Given the description of an element on the screen output the (x, y) to click on. 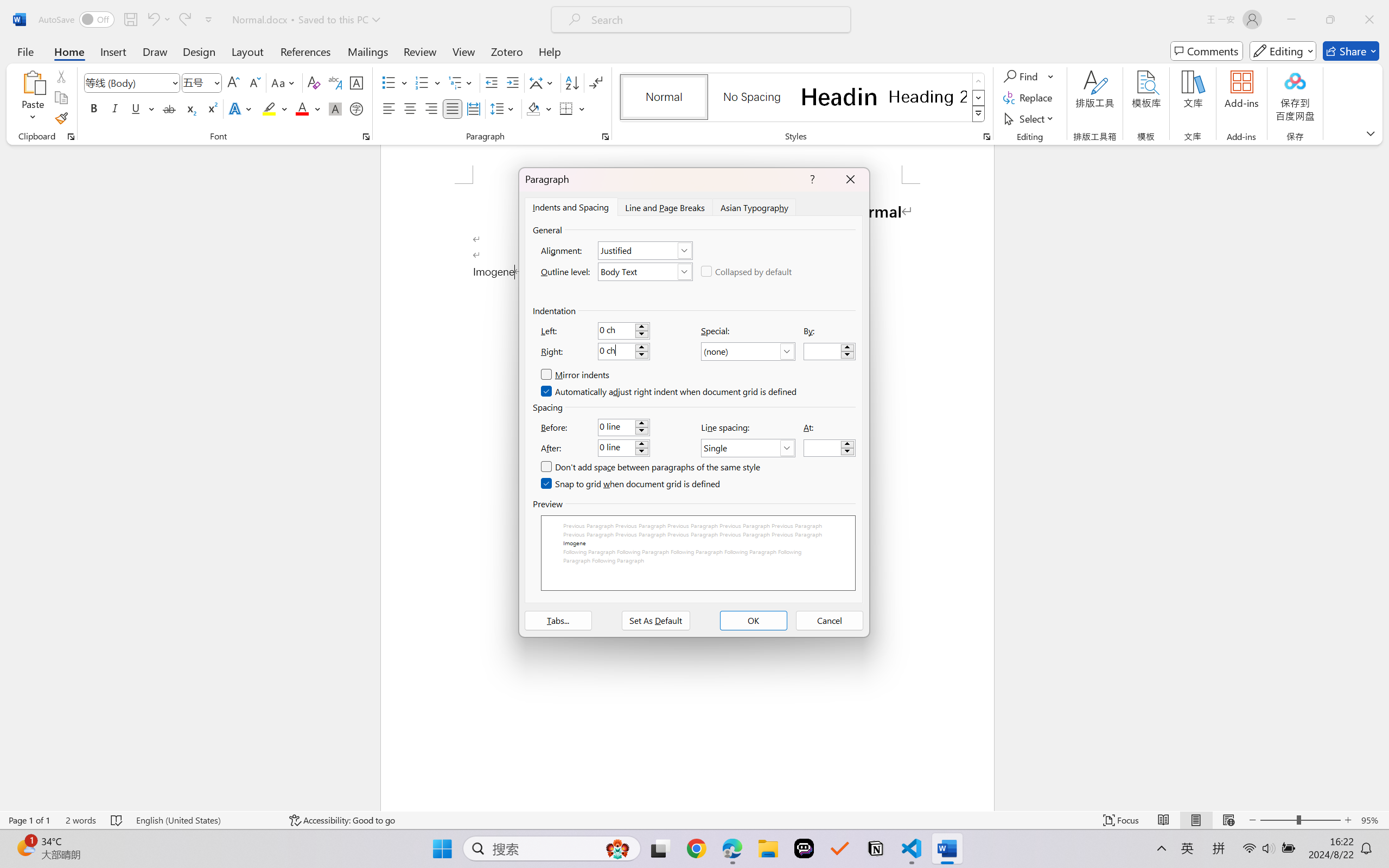
Cancel (829, 620)
Paragraph... (605, 136)
Asian Typography (754, 206)
Format Painter (60, 118)
Phonetic Guide... (334, 82)
Page Number Page 1 of 1 (29, 819)
Right: (623, 351)
